Given the description of an element on the screen output the (x, y) to click on. 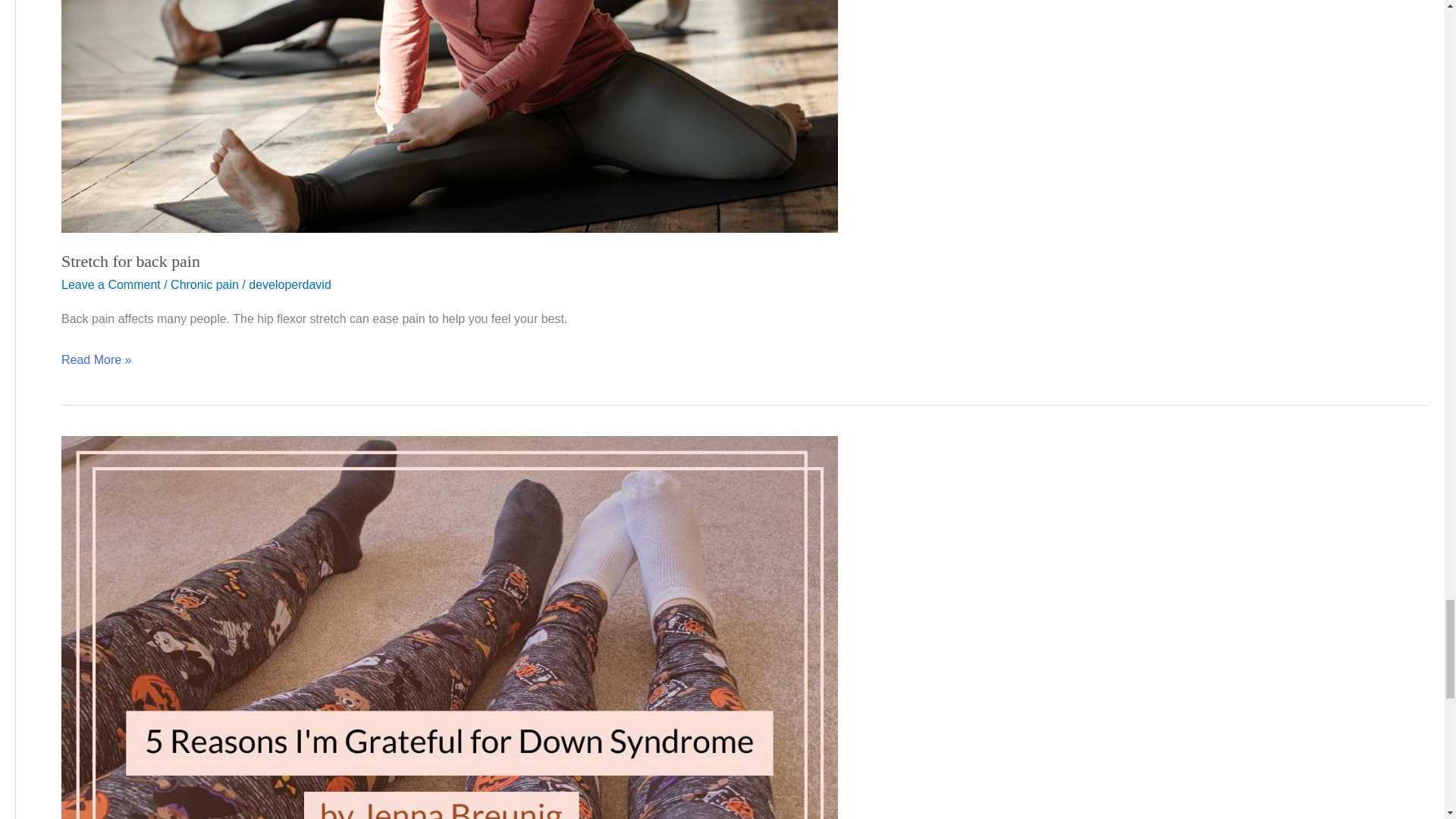
View all posts by developerdavid (289, 284)
